Given the description of an element on the screen output the (x, y) to click on. 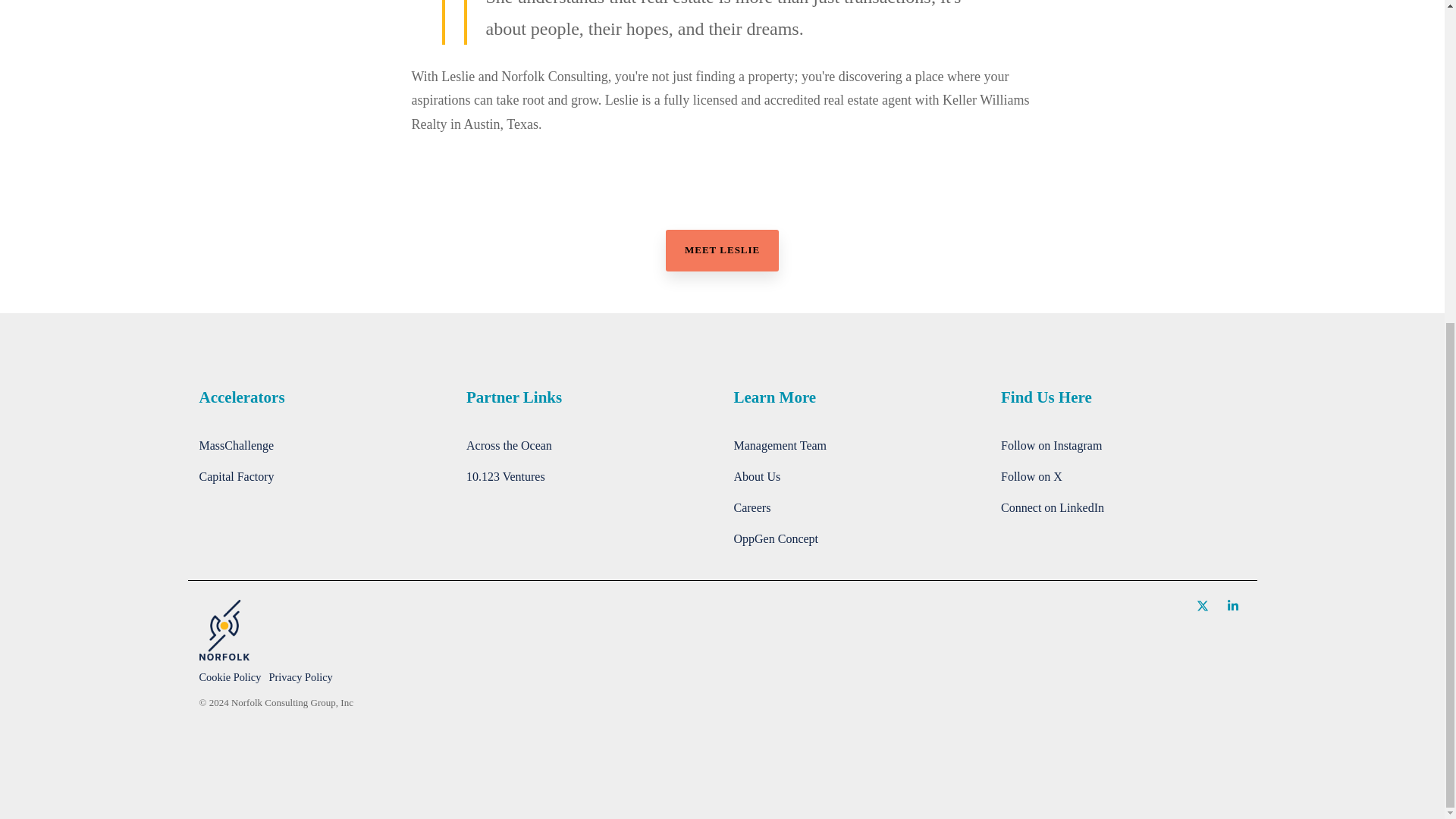
Capital Factory (235, 476)
MEET LESLIE (721, 250)
MassChallenge (235, 445)
10.123 Ventures (504, 476)
Across the Ocean (508, 445)
